Given the description of an element on the screen output the (x, y) to click on. 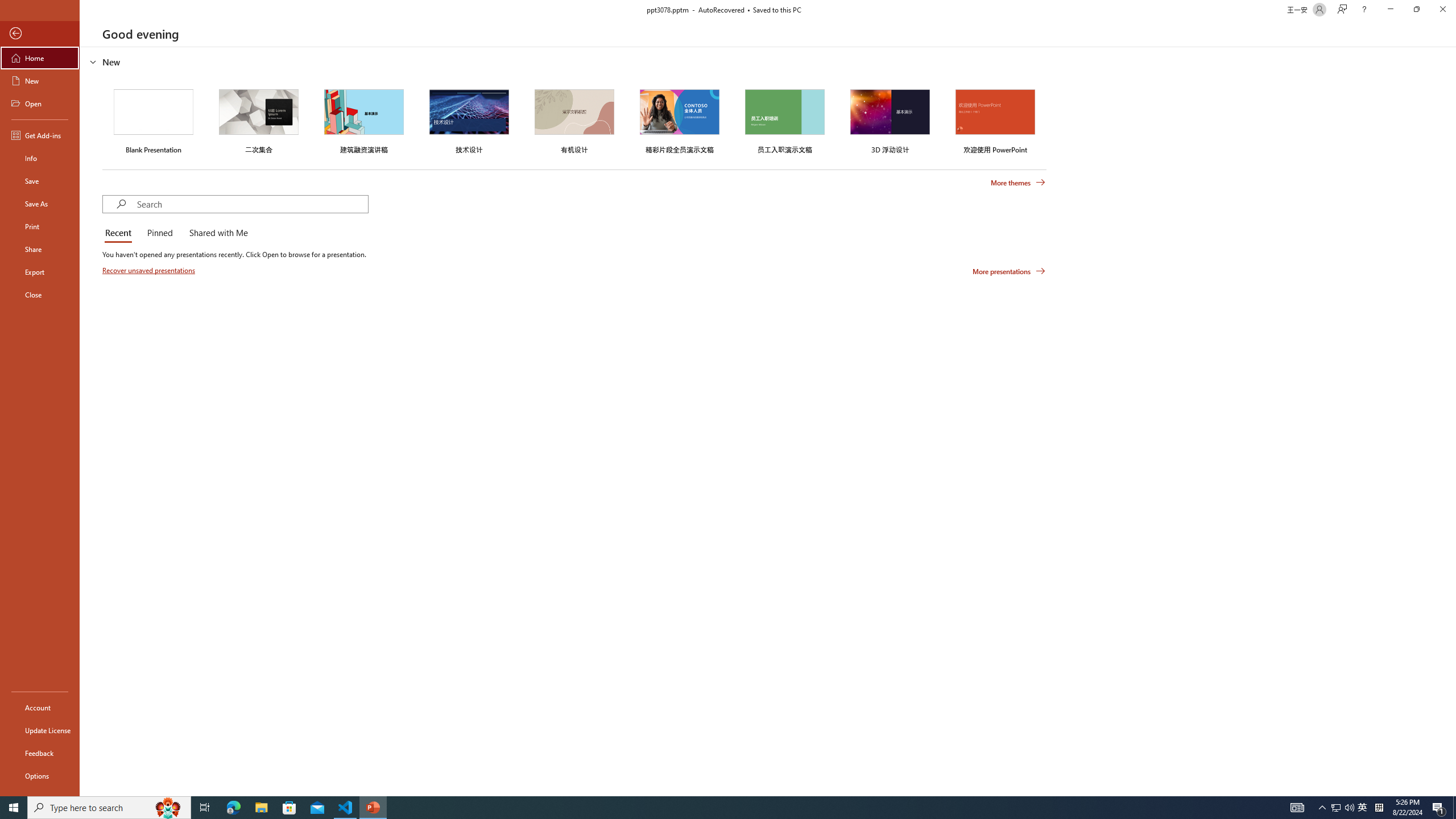
Feedback (40, 753)
Pinned (159, 233)
Recover unsaved presentations (149, 270)
Print (40, 225)
Get Add-ins (40, 134)
More presentations (1008, 270)
Options (40, 775)
New (40, 80)
More themes (1018, 182)
